Given the description of an element on the screen output the (x, y) to click on. 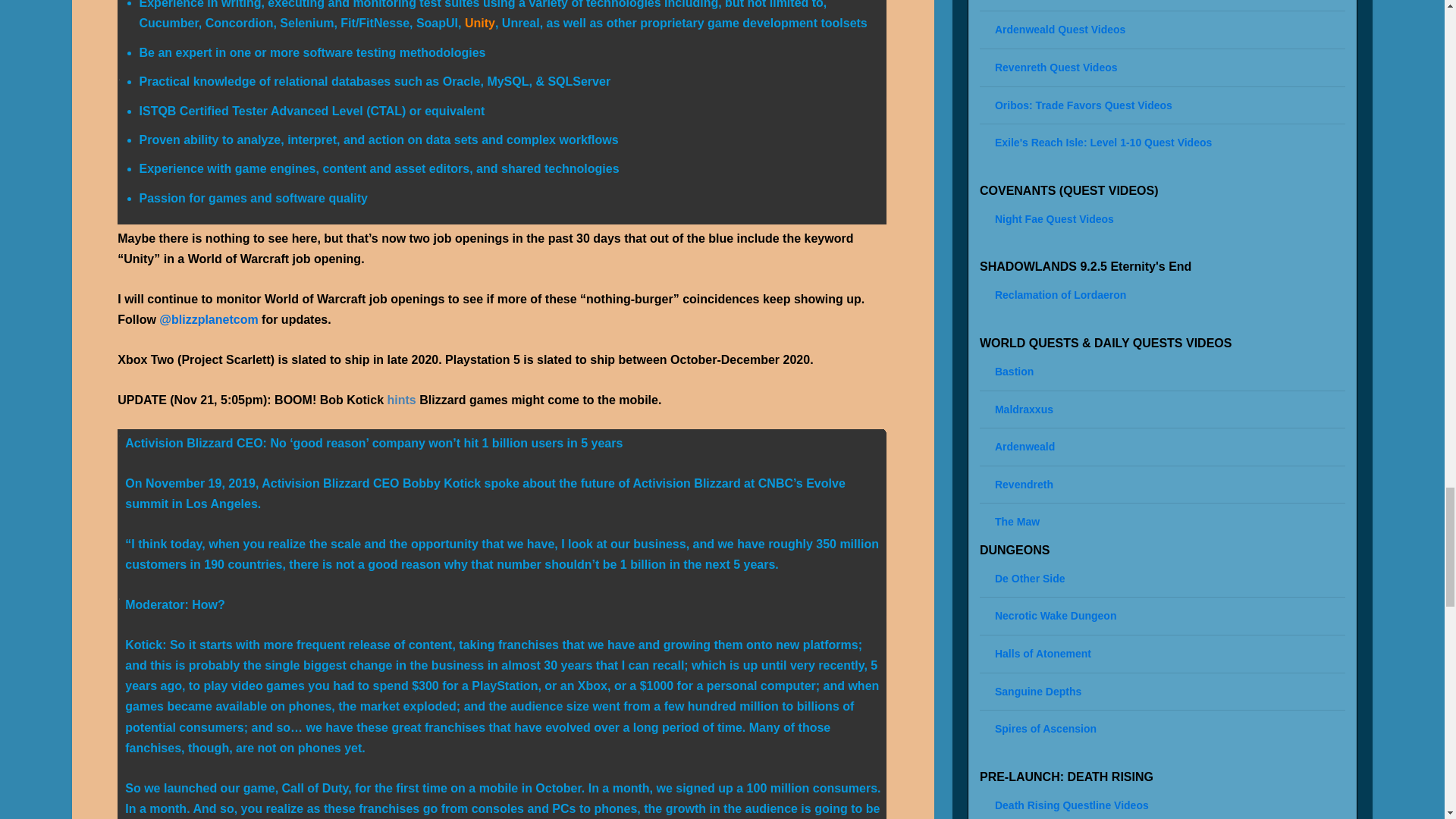
hints (401, 399)
